Given the description of an element on the screen output the (x, y) to click on. 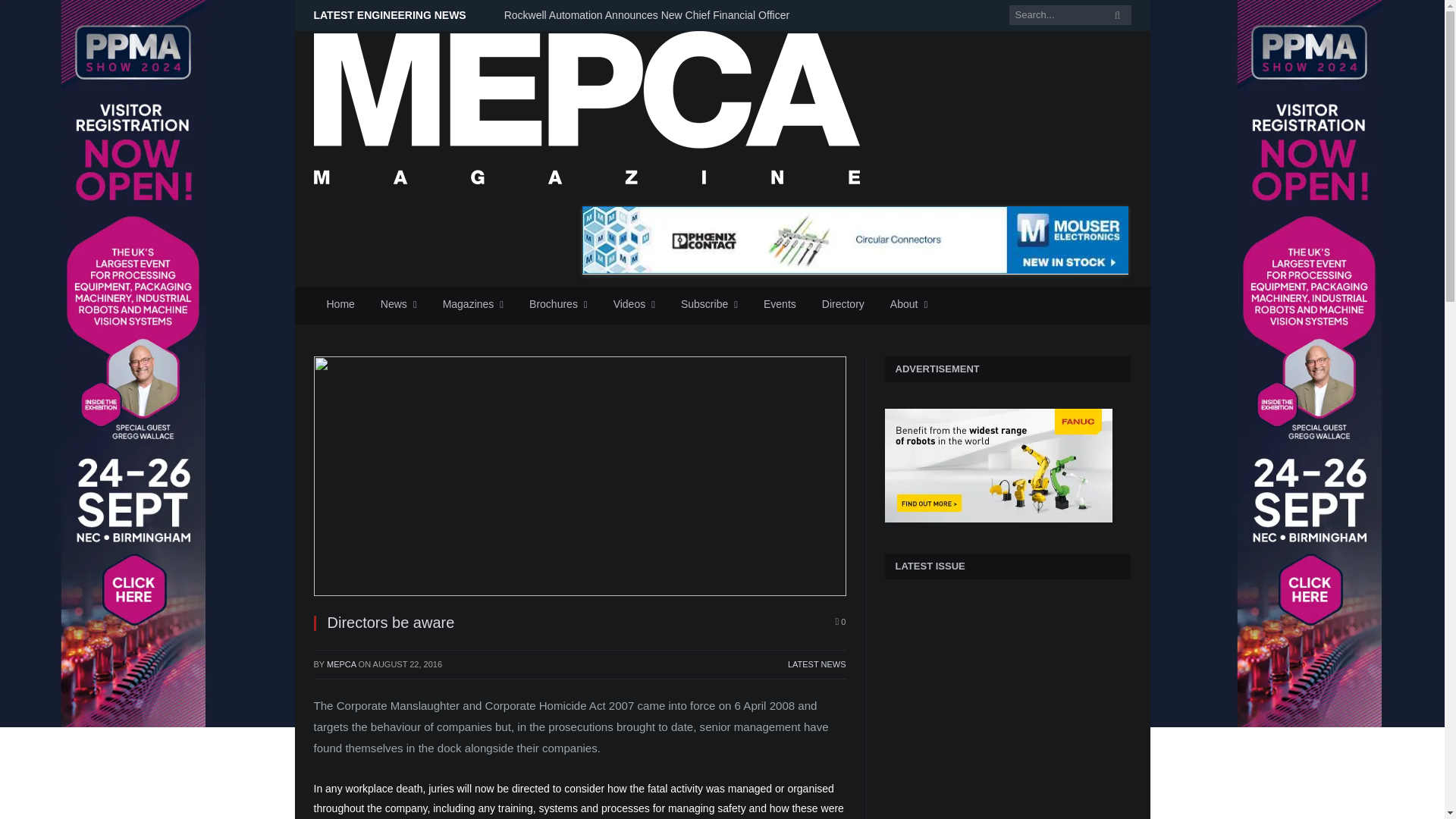
Directors be aware (579, 478)
Mepca Engineering (587, 105)
Posts by MEPCA (341, 664)
2016-08-22 (407, 664)
Home (341, 305)
Rockwell Automation Announces New Chief Financial Officer (649, 15)
Directors be aware (579, 476)
Rockwell Automation Announces New Chief Financial Officer (649, 15)
News (398, 305)
